Given the description of an element on the screen output the (x, y) to click on. 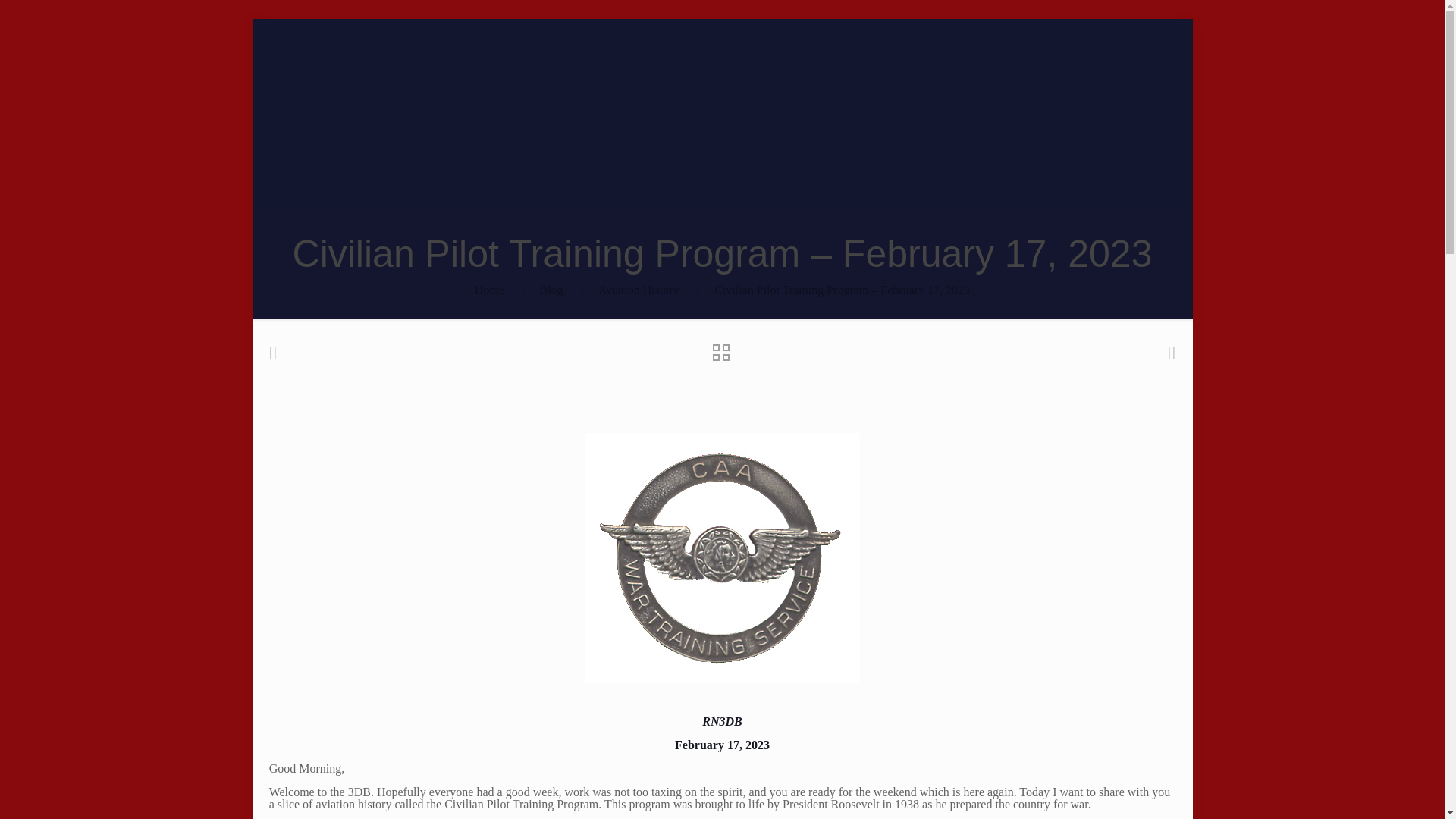
Blog (550, 289)
Home (488, 289)
Aviation History (638, 289)
